Given the description of an element on the screen output the (x, y) to click on. 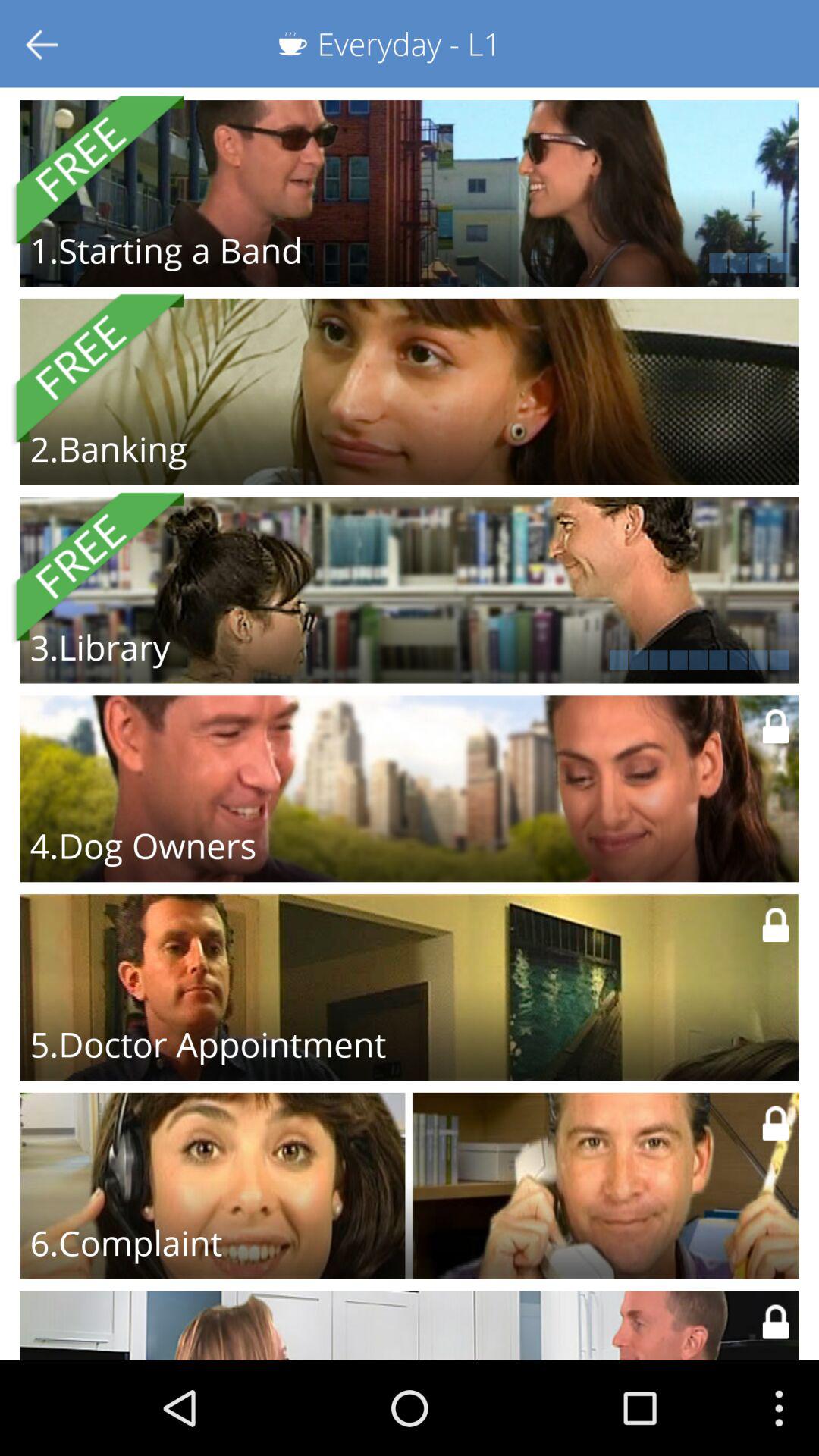
go back (43, 43)
